Given the description of an element on the screen output the (x, y) to click on. 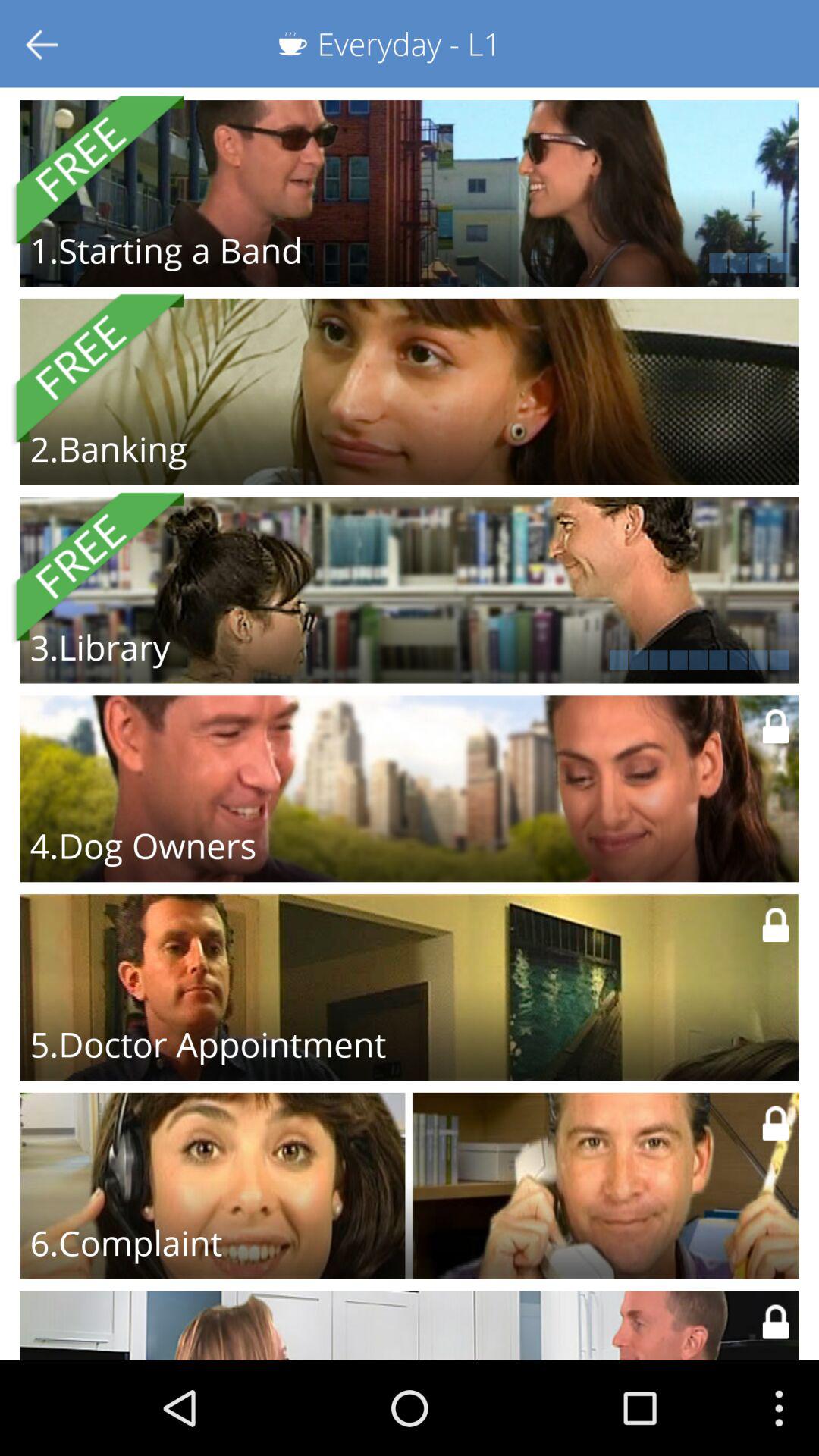
go back (43, 43)
